Given the description of an element on the screen output the (x, y) to click on. 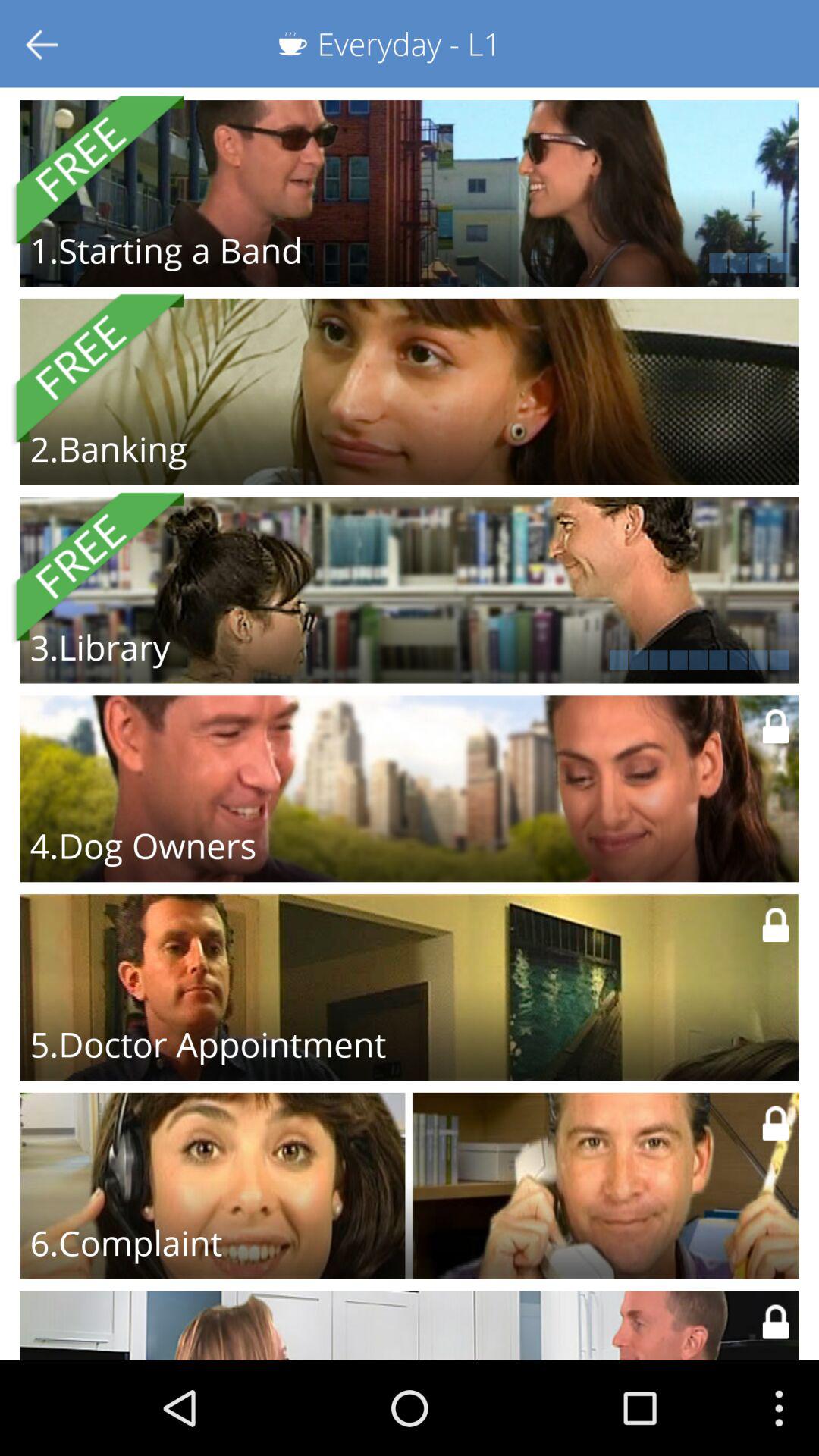
go back (43, 43)
